Given the description of an element on the screen output the (x, y) to click on. 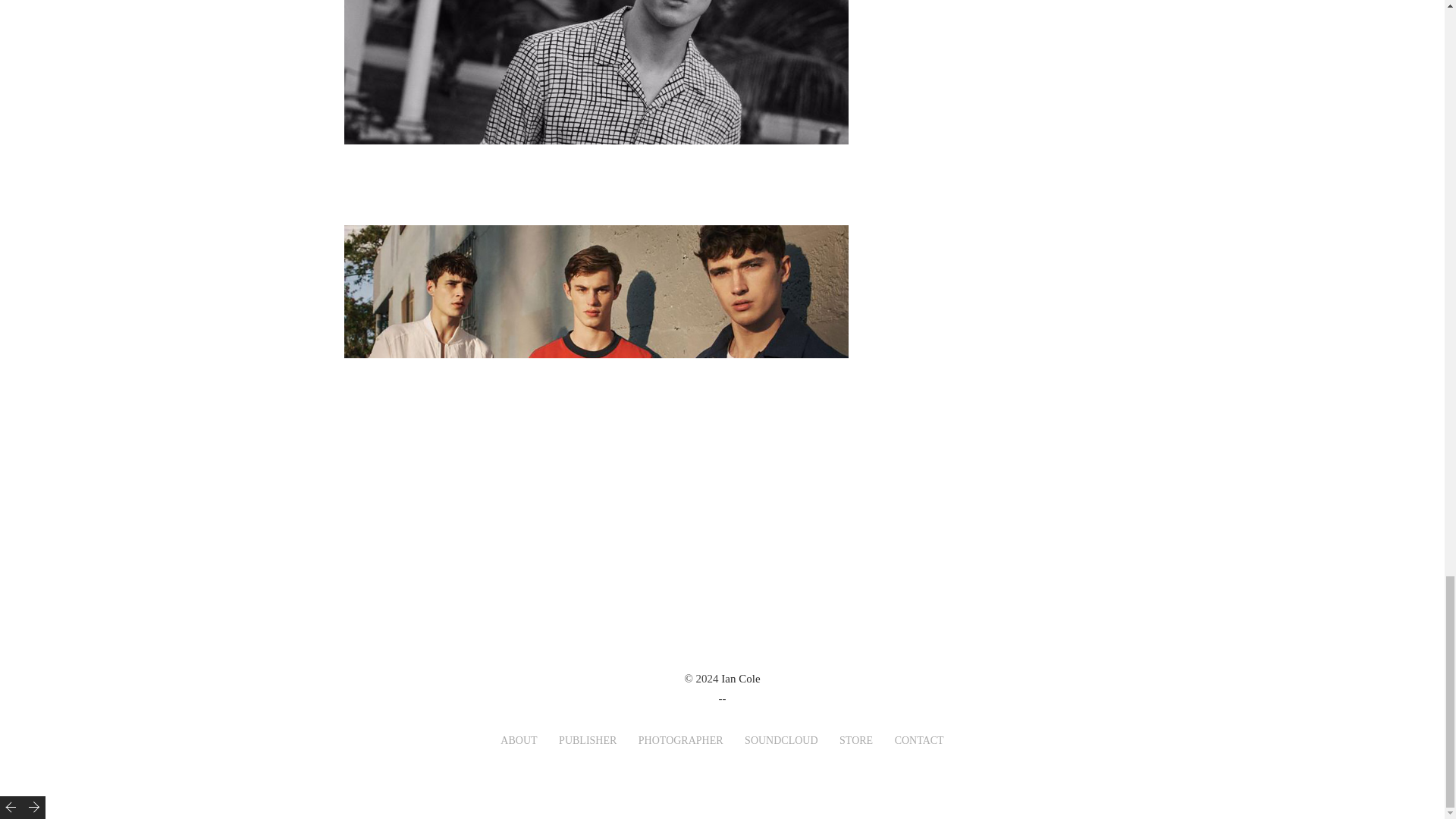
PUBLISHER (587, 740)
Ian Cole (740, 678)
PHOTOGRAPHER (681, 740)
ABOUT (518, 740)
